Given the description of an element on the screen output the (x, y) to click on. 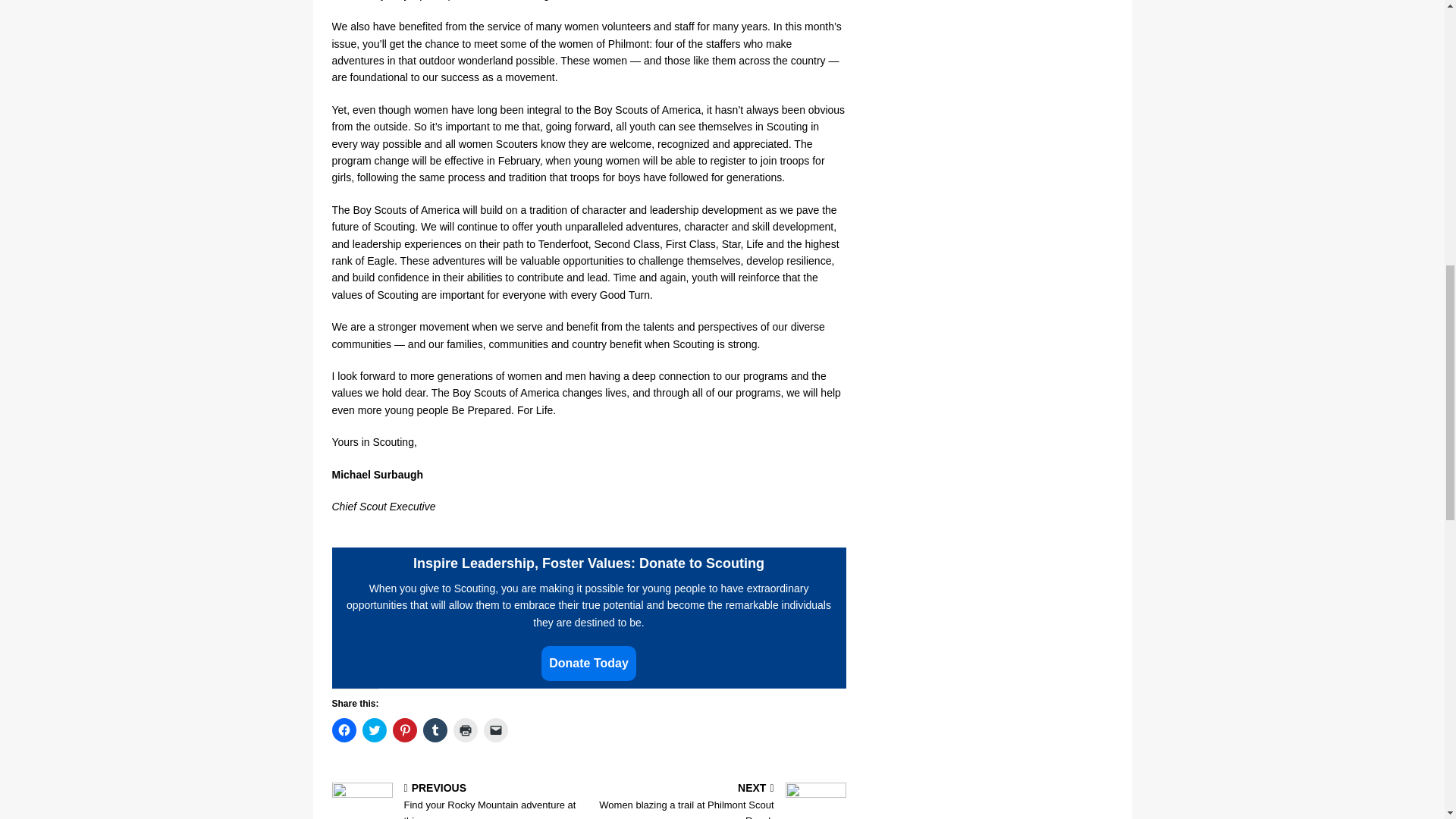
Click to email a link to a friend (495, 730)
Click to print (457, 800)
Click to share on Twitter (464, 730)
Donate Today (374, 730)
Click to share on Tumblr (720, 800)
Click to share on Pinterest (588, 663)
Click to share on Facebook (434, 730)
